Given the description of an element on the screen output the (x, y) to click on. 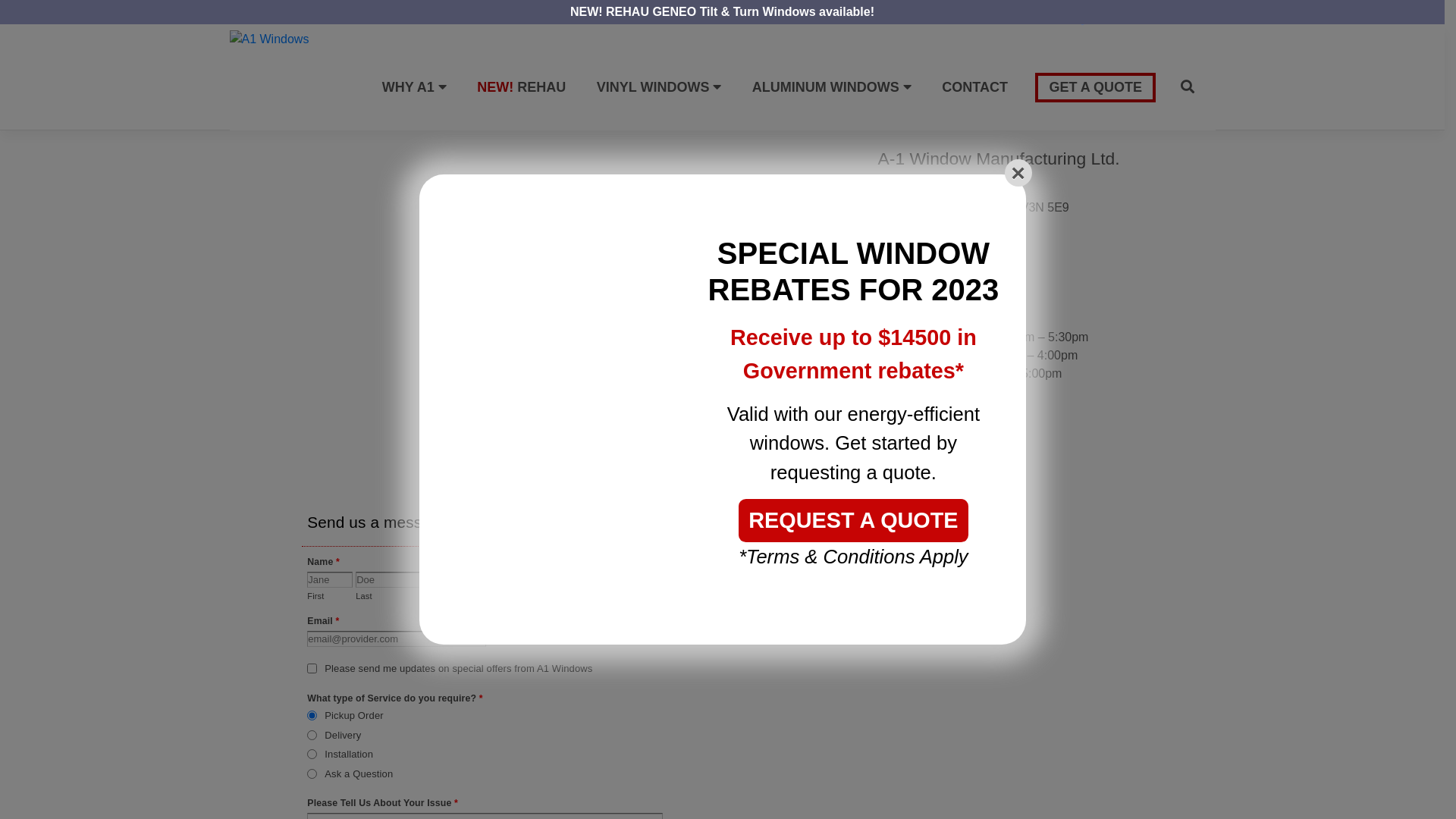
VINYL WINDOWS Element type: text (659, 86)
ALUMINUM WINDOWS Element type: text (831, 86)
CONTACT Element type: text (974, 87)
WHY A1 Element type: text (414, 86)
NEW! REHAU Element type: text (521, 87)
REQUEST A QUOTE Element type: text (852, 520)
Call Today
604-777-8000 Element type: text (1104, 15)
info@a1windows.ca Element type: text (932, 285)
GET A QUOTE Element type: text (1095, 87)
